Given the description of an element on the screen output the (x, y) to click on. 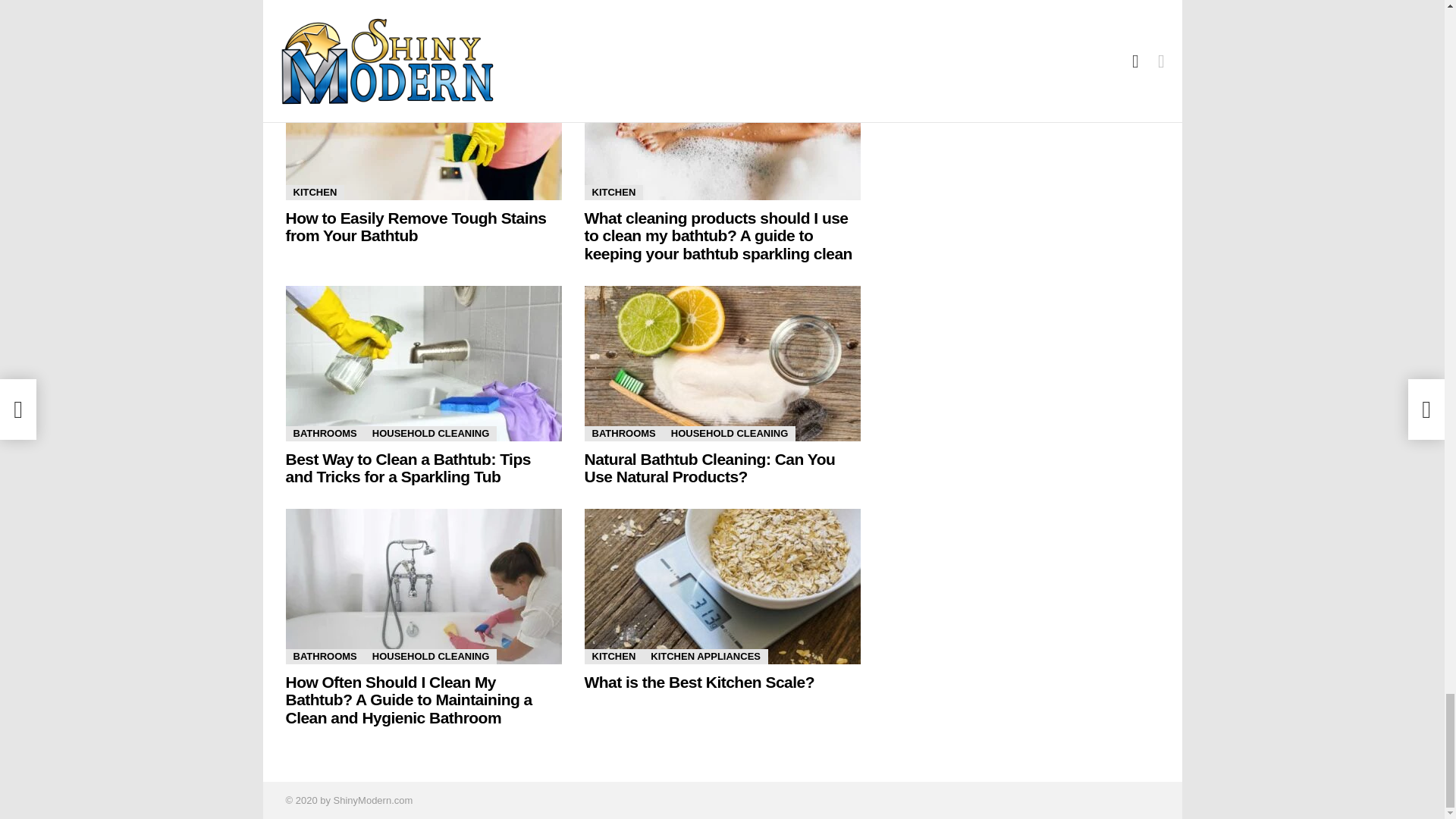
KITCHEN (613, 192)
What is the Best Kitchen Scale? (721, 586)
How to Easily Remove Tough Stains from Your Bathtub (415, 226)
KITCHEN (314, 192)
Natural Bathtub Cleaning: Can You Use Natural Products? (721, 363)
How to Easily Remove Tough Stains from Your Bathtub (422, 122)
